Given the description of an element on the screen output the (x, y) to click on. 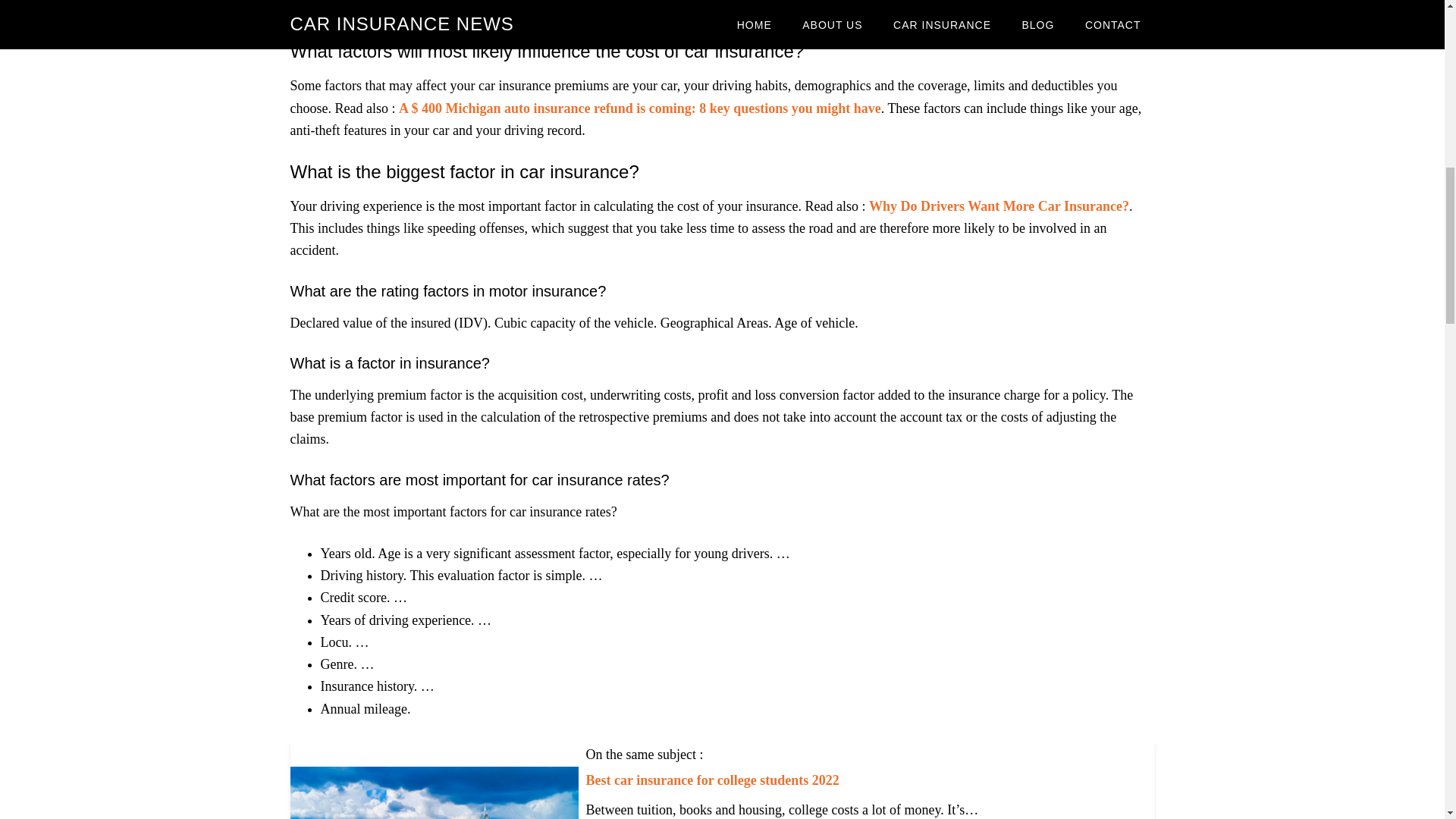
Best car insurance for college students 2022 (711, 780)
Why Do Drivers Want More Car Insurance? (999, 206)
